Given the description of an element on the screen output the (x, y) to click on. 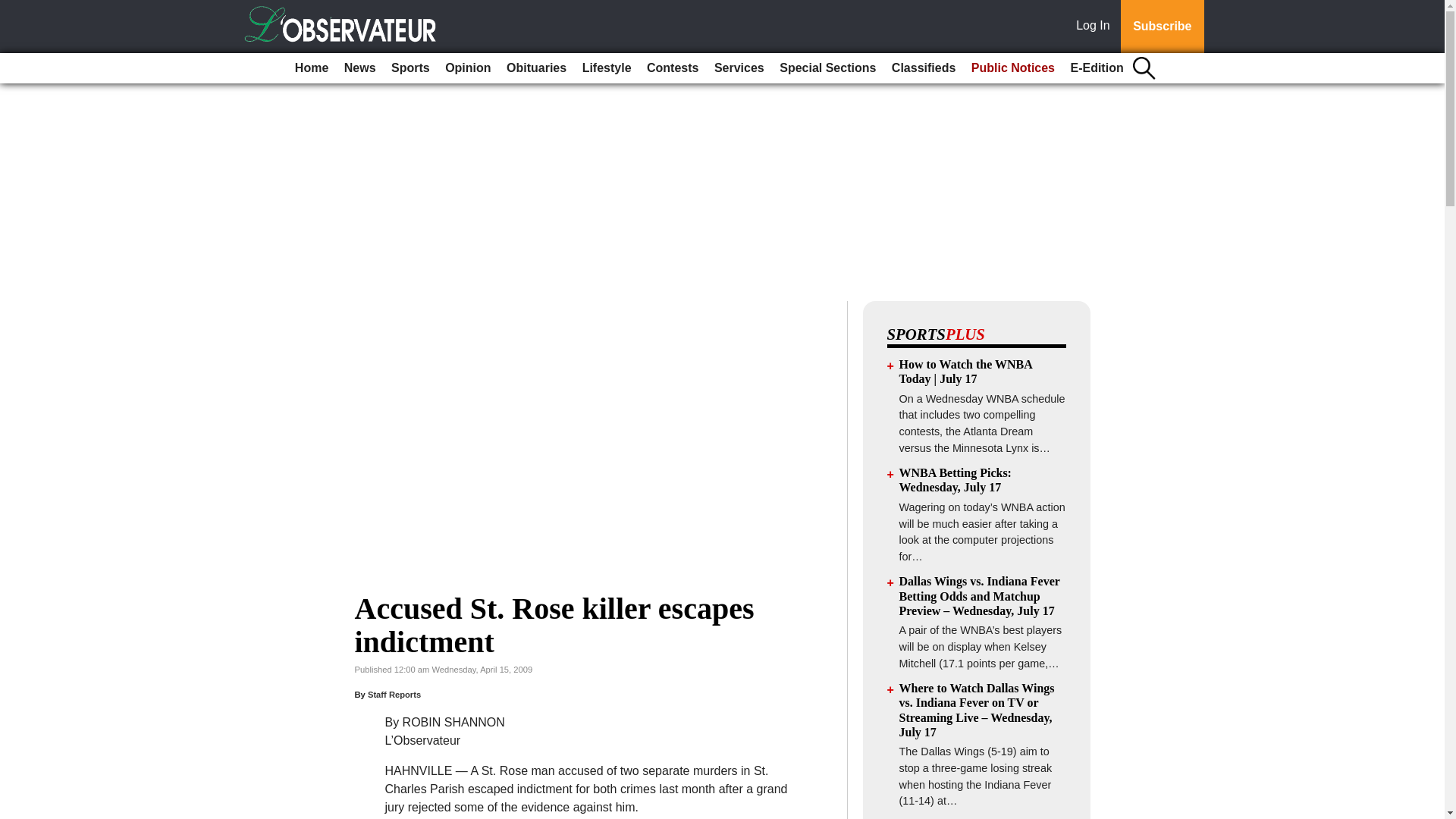
WNBA Betting Picks: Wednesday, July 17 (955, 479)
Contests (672, 68)
Staff Reports (394, 694)
Public Notices (1013, 68)
Services (738, 68)
Special Sections (827, 68)
Log In (1095, 26)
News (359, 68)
Home (311, 68)
Classifieds (922, 68)
Sports (410, 68)
Lifestyle (606, 68)
Opinion (467, 68)
Go (13, 9)
E-Edition (1096, 68)
